Given the description of an element on the screen output the (x, y) to click on. 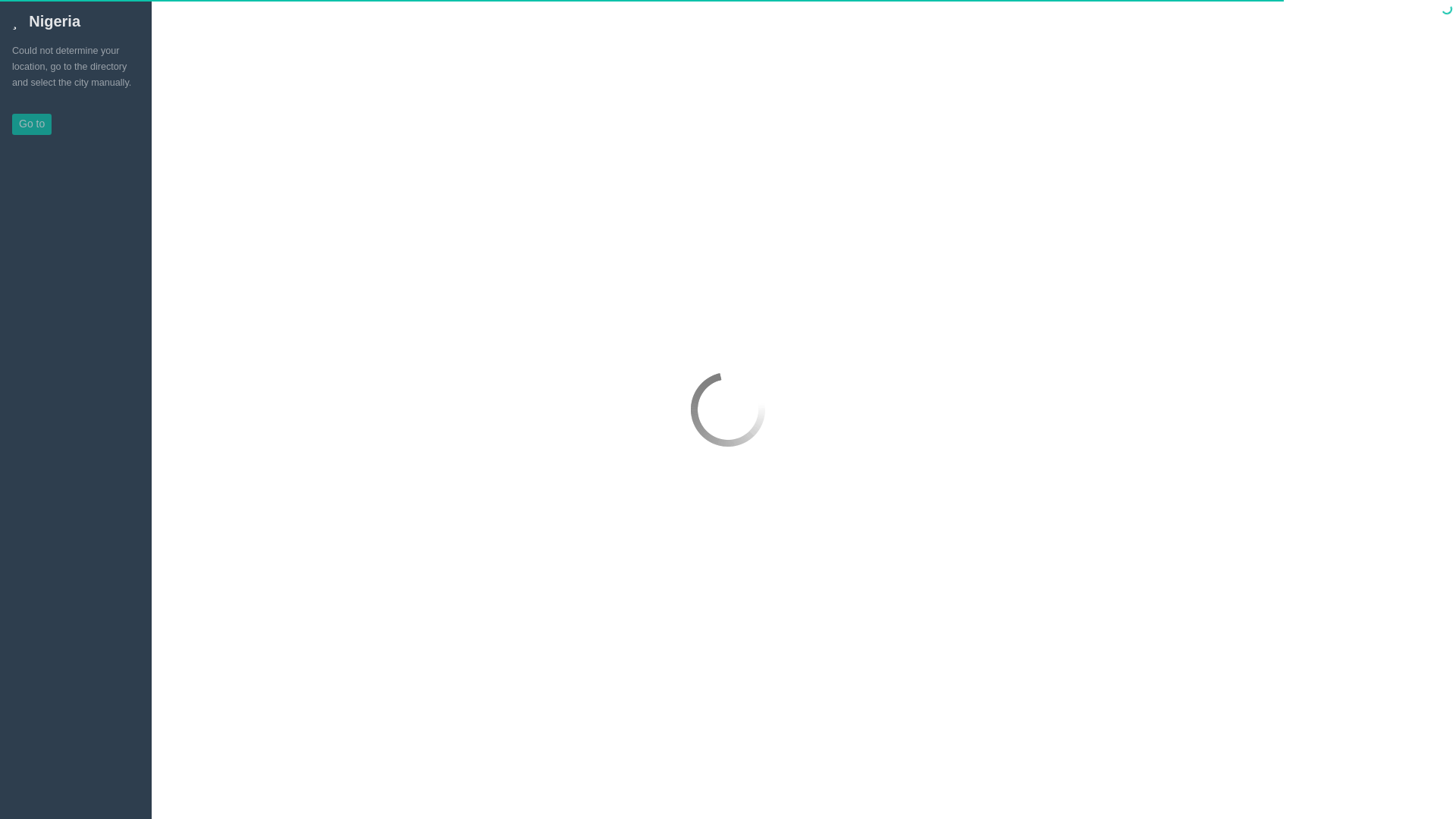
Edo (234, 130)
Privacy Policy (1407, 7)
Privacy Policy (194, 811)
Nigeria (45, 21)
Go to (25, 122)
Benin City (283, 130)
Go to (30, 124)
Home (195, 130)
Gas Station (350, 130)
